Given the description of an element on the screen output the (x, y) to click on. 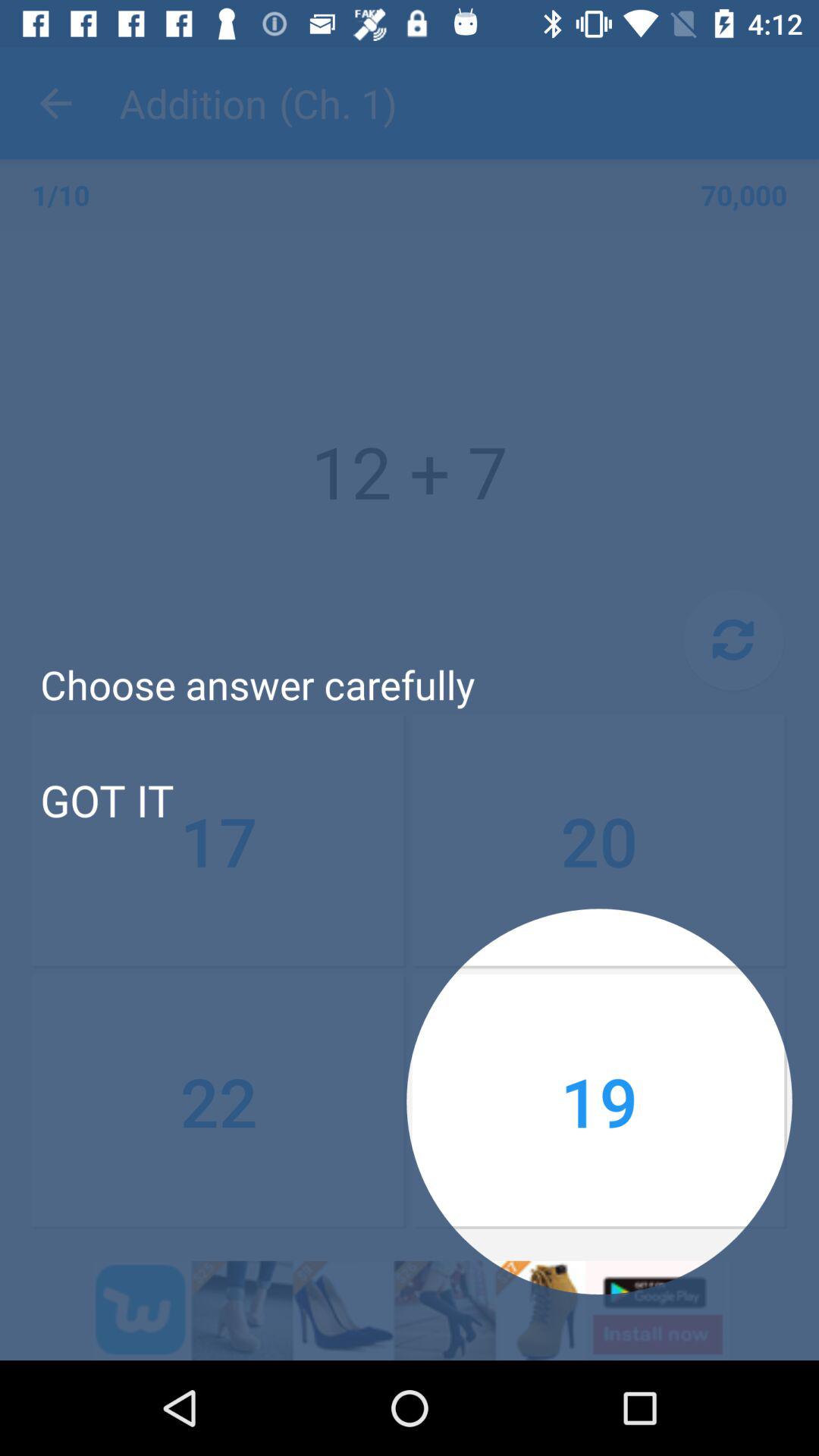
press 22 icon (218, 1101)
